Given the description of an element on the screen output the (x, y) to click on. 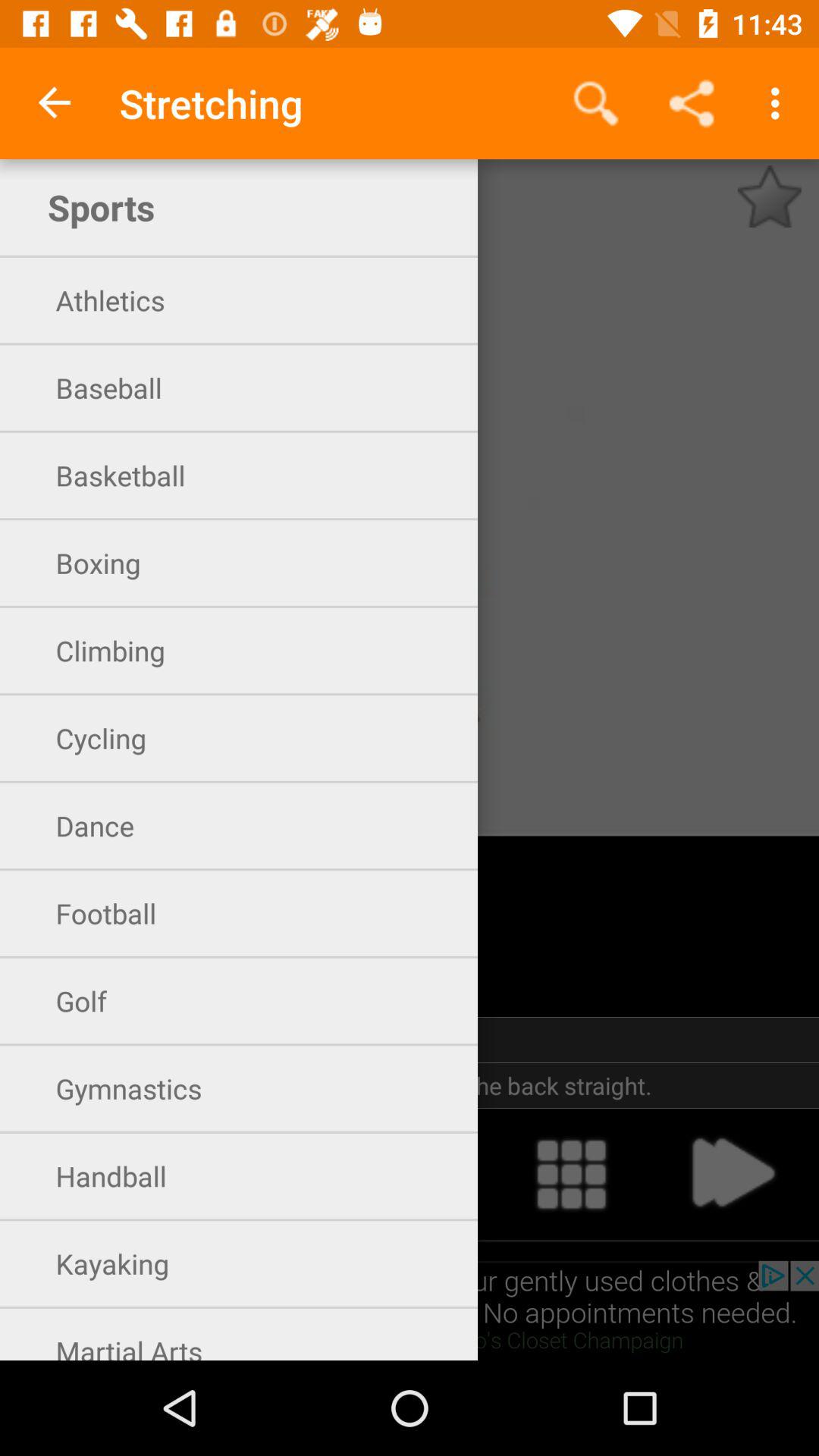
choose the handball (409, 1174)
